Given the description of an element on the screen output the (x, y) to click on. 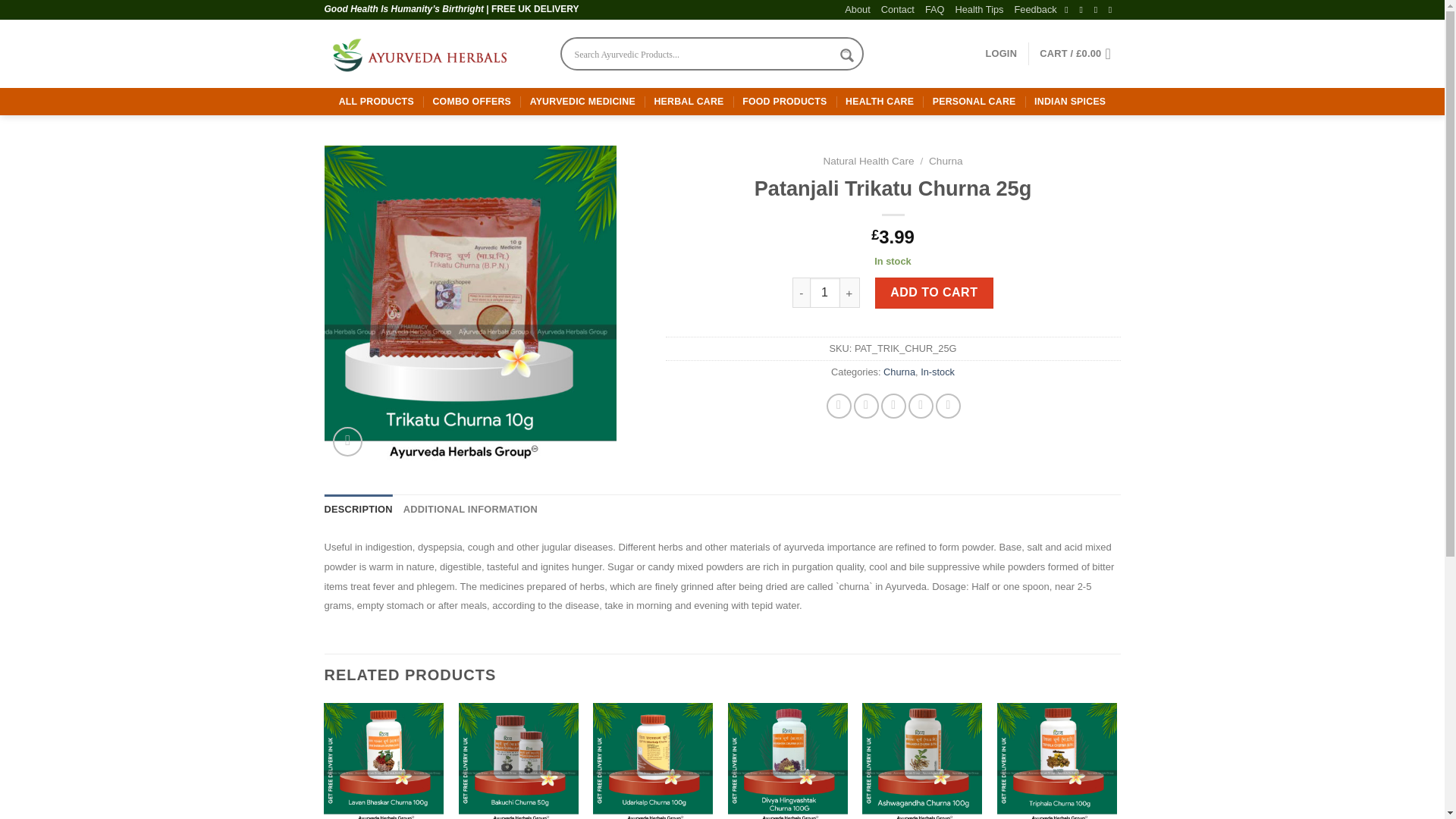
AYURVEDIC MEDICINE (581, 101)
Email to a Friend (892, 405)
FOOD PRODUCTS (784, 101)
LH1 copy (483, 304)
Pin on Pinterest (920, 405)
FAQ (934, 9)
Contact (897, 9)
Cart (1079, 53)
PERSONAL CARE (974, 101)
Health Tips (979, 9)
HERBAL CARE (688, 101)
Share on Twitter (866, 405)
Zoom (347, 441)
INDIAN SPICES (1069, 101)
About (856, 9)
